Given the description of an element on the screen output the (x, y) to click on. 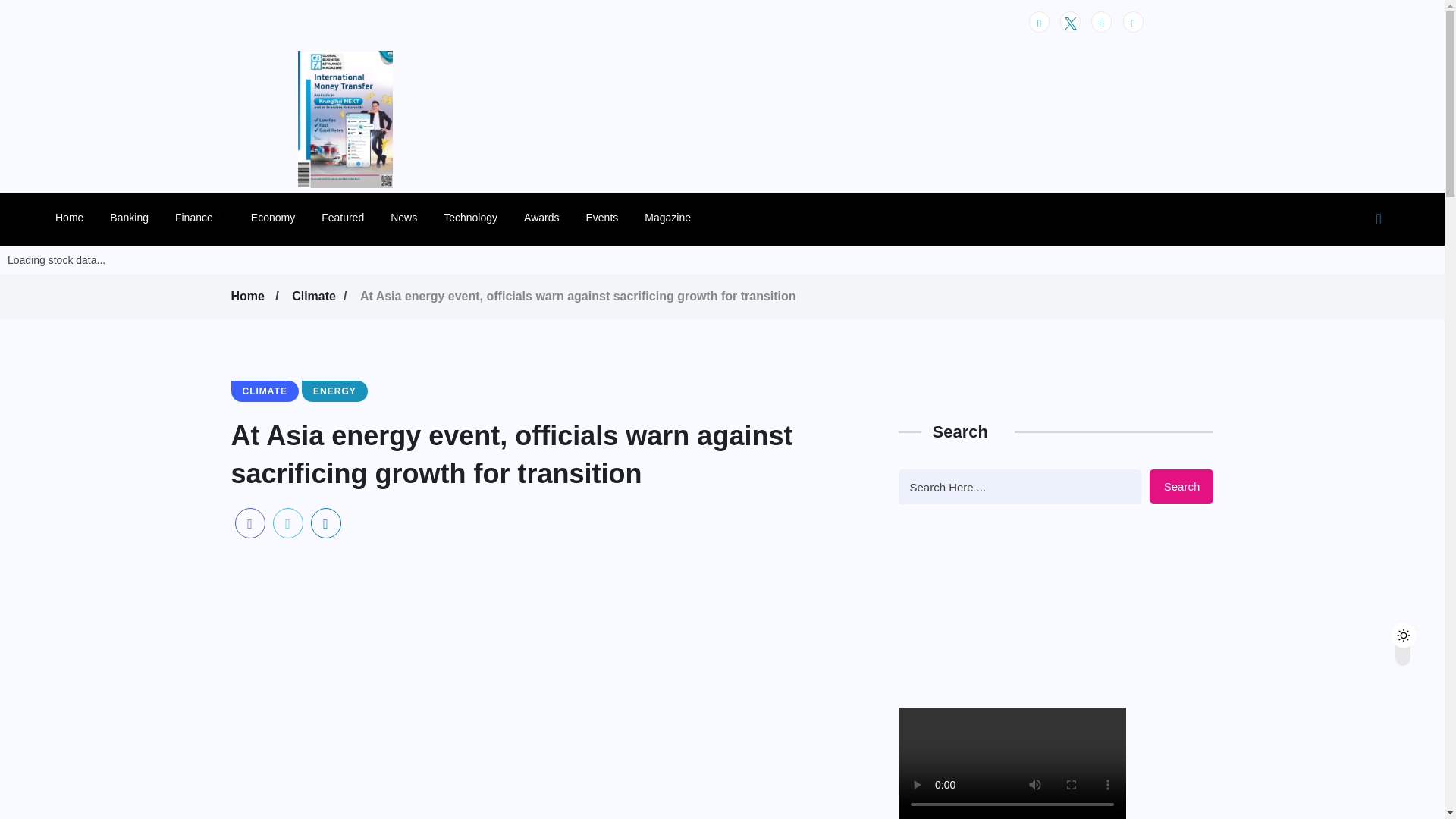
Events (600, 216)
Featured (342, 216)
News (403, 216)
Finance (199, 216)
on (1415, 631)
Economy (272, 216)
Home (249, 296)
Awards (541, 216)
Banking (129, 216)
Technology (470, 216)
Magazine (667, 216)
Home (68, 216)
